Given the description of an element on the screen output the (x, y) to click on. 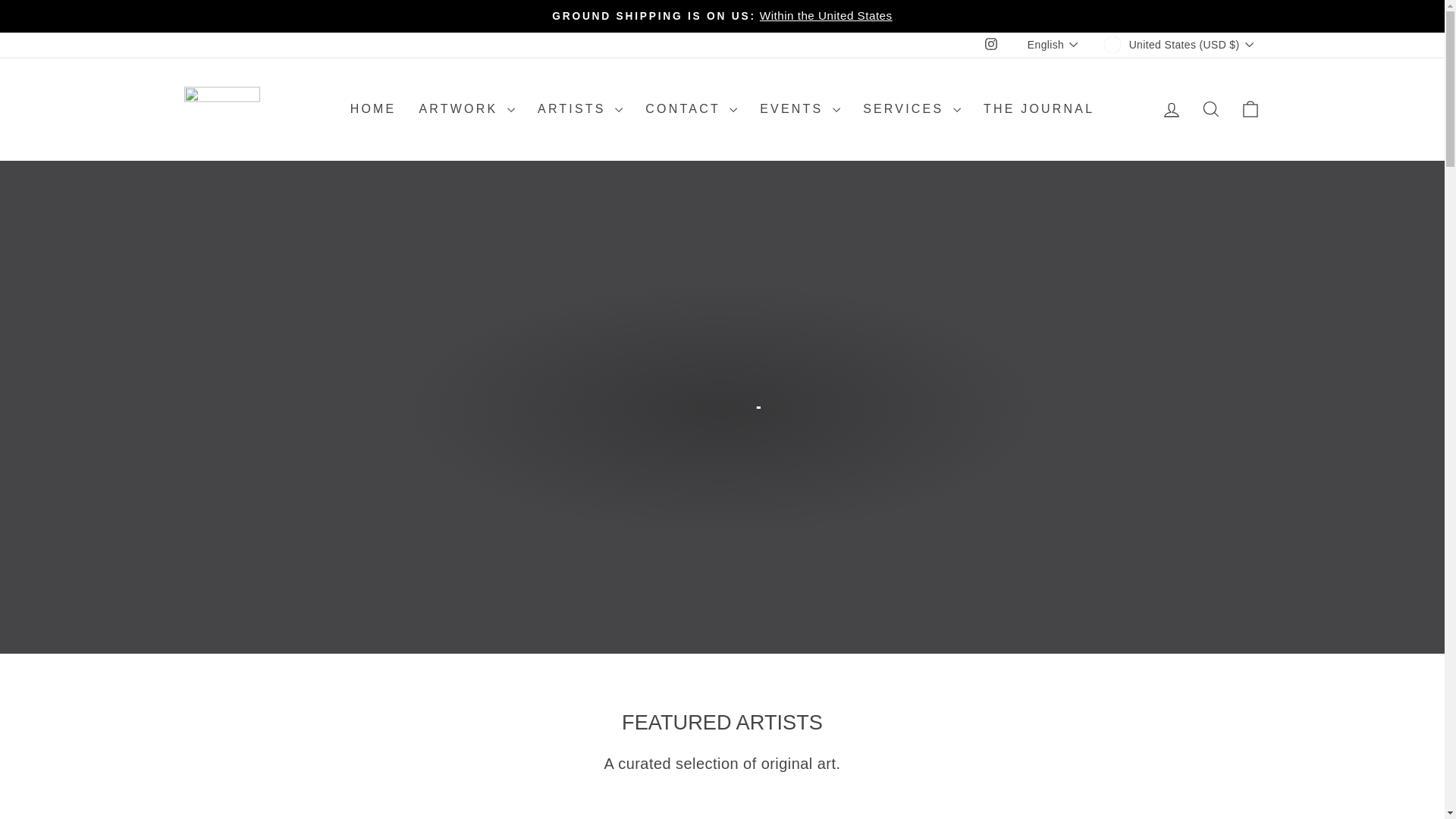
ICON-BAG-MINIMAL (1249, 108)
GROUND SHIPPING IS ON US:Within the United States (722, 16)
Artly International on Instagram (991, 44)
ACCOUNT (1170, 109)
ICON-SEARCH (1210, 108)
instagram (991, 43)
